Given the description of an element on the screen output the (x, y) to click on. 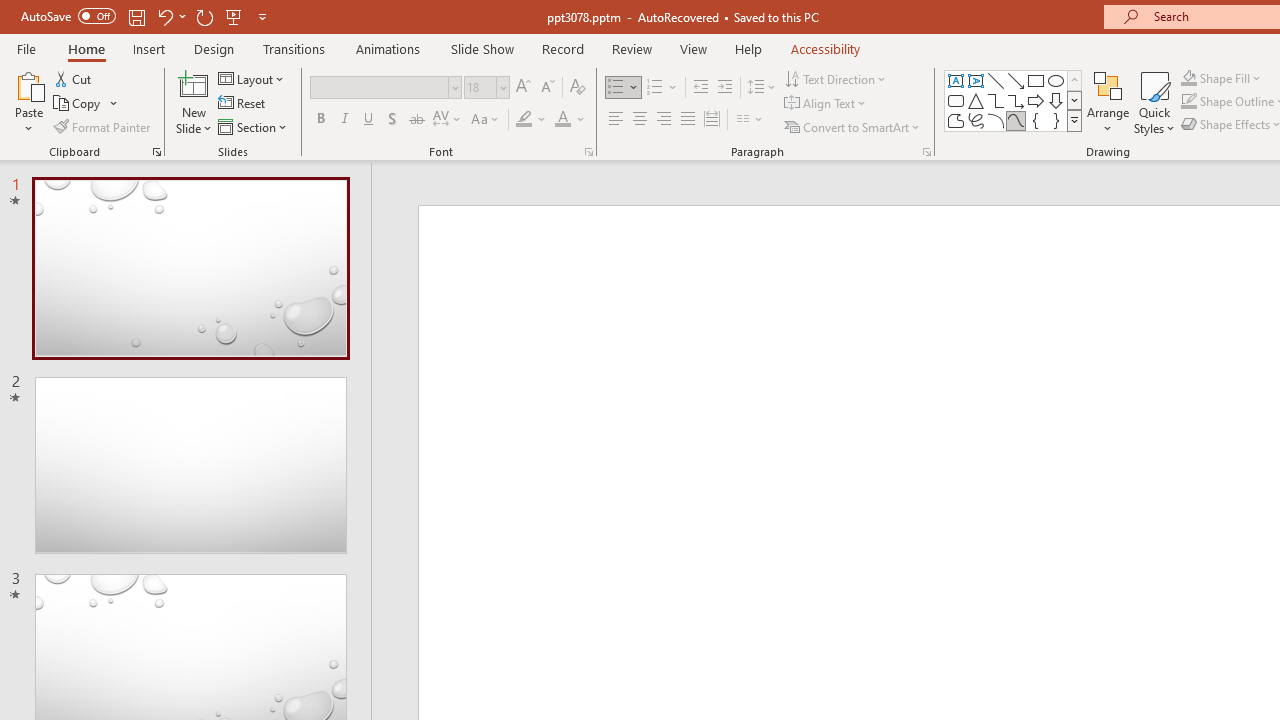
Change Case (486, 119)
AutomationID: ShapesInsertGallery (1014, 100)
Clear Formatting (577, 87)
Character Spacing (447, 119)
Office Clipboard... (156, 151)
Oval (1055, 80)
Increase Font Size (522, 87)
Decrease Font Size (547, 87)
Curve (1016, 120)
Layout (252, 78)
Arc (995, 120)
